Given the description of an element on the screen output the (x, y) to click on. 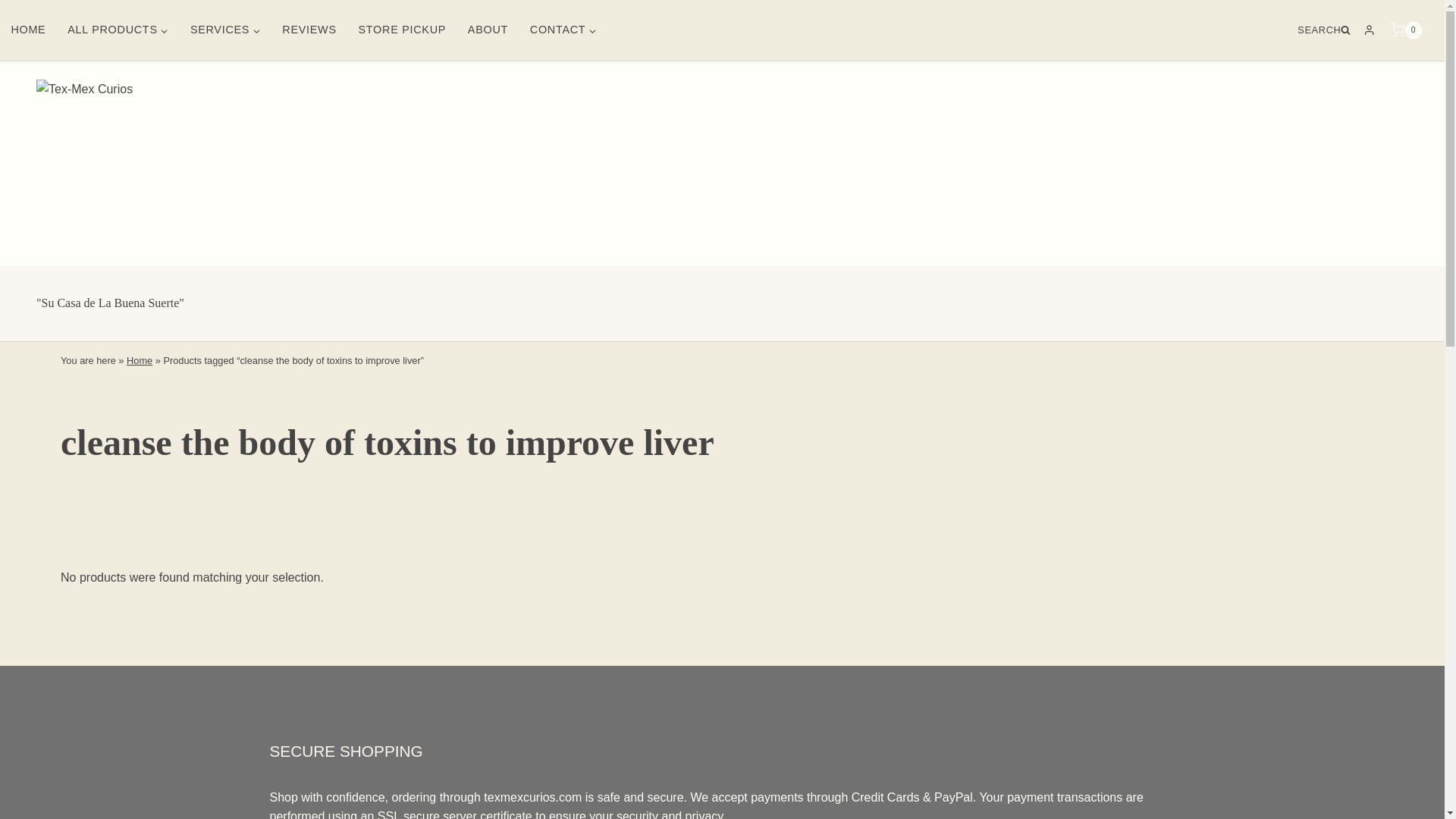
ABOUT (487, 30)
HOME (28, 30)
ALL PRODUCTS (117, 30)
CONTACT (562, 30)
SERVICES (224, 30)
Tex-Mex Curios Home (28, 30)
0 (1406, 30)
REVIEWS (308, 30)
Home (139, 360)
STORE PICKUP (402, 30)
